Given the description of an element on the screen output the (x, y) to click on. 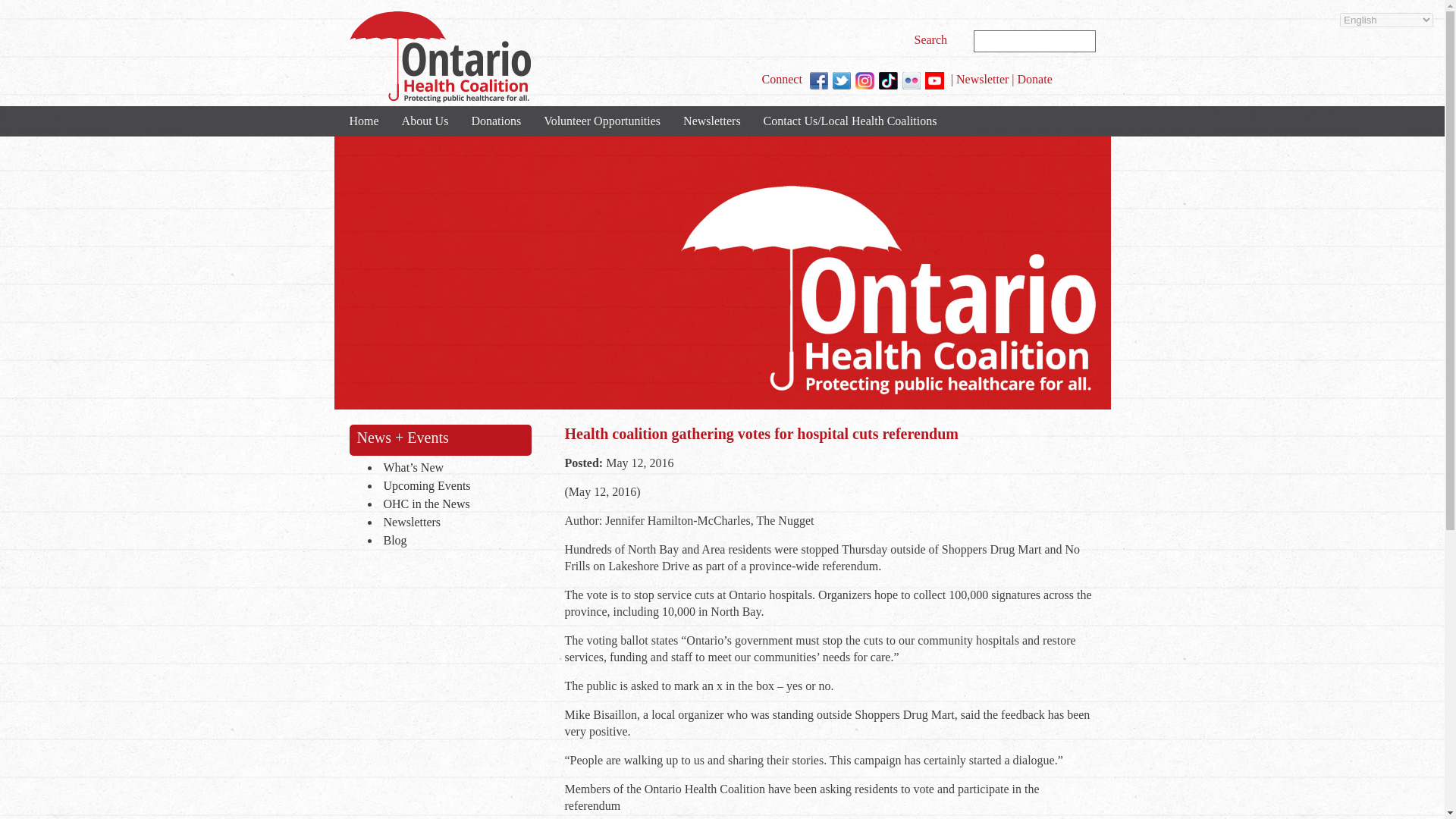
Twitter (841, 80)
Newsletters (711, 121)
TikTok (888, 80)
Donate (1034, 79)
Ontario Health Coalition (439, 56)
Blog (452, 541)
About Us (425, 121)
Facebook (818, 80)
OHC in the News (452, 505)
Donations (496, 121)
Flickr (911, 80)
Volunteer Opportunities (601, 121)
Search (932, 39)
Upcoming Events (452, 486)
Newsletter (982, 79)
